Given the description of an element on the screen output the (x, y) to click on. 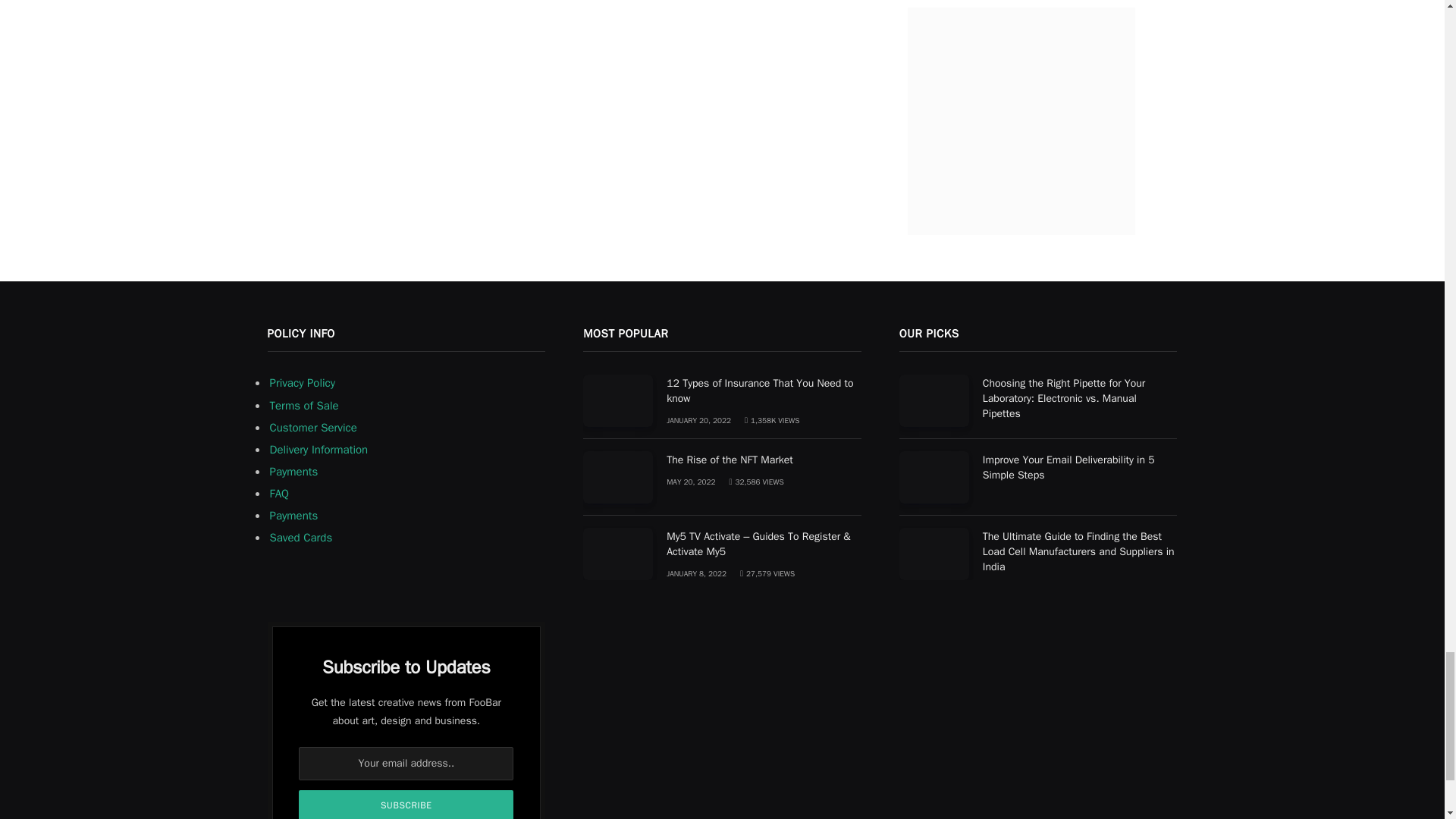
Subscribe (405, 804)
